Given the description of an element on the screen output the (x, y) to click on. 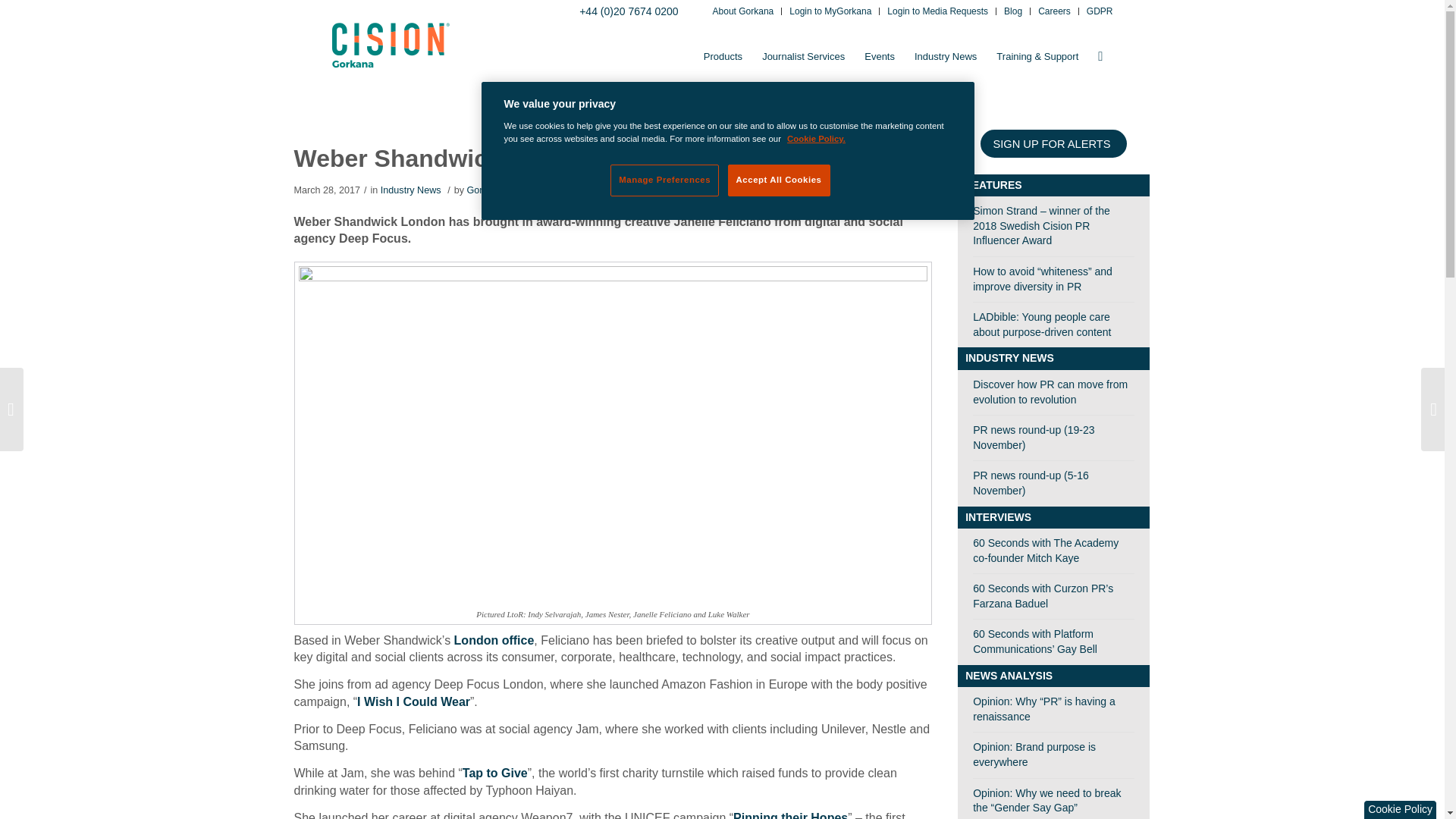
Login to MyGorkana (829, 12)
Industry News (945, 56)
Login to Media Requests (937, 12)
GDPR (1099, 12)
Careers (1054, 12)
Journalist Services (803, 56)
Posts by Gorkana News Editor (511, 190)
Weber Shandwick enhances creative team (537, 157)
Permanent Link: Weber Shandwick enhances creative team (537, 157)
About Gorkana (743, 12)
